Given the description of an element on the screen output the (x, y) to click on. 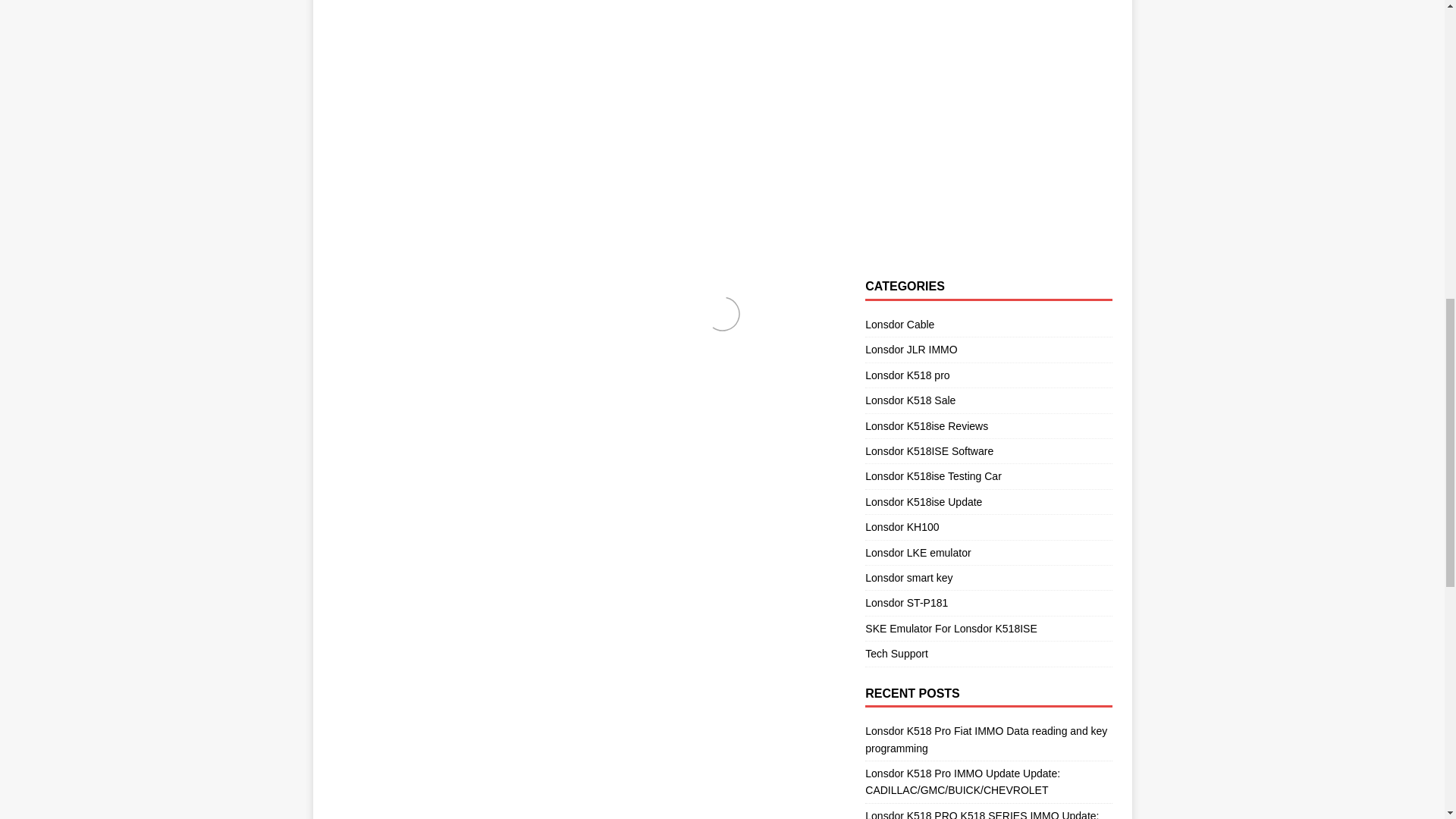
Lonsdor K518 Sale (988, 400)
Lonsdor Cable (988, 326)
Lonsdor K518ise Testing Car (988, 476)
Tech Support (988, 653)
Lonsdor K518 Pro Fiat IMMO Data reading and key programming (985, 738)
Lonsdor ST-P181 (988, 602)
Lonsdor K518ise Reviews (988, 426)
SKE Emulator For Lonsdor K518ISE (988, 628)
Lonsdor K518ISE Software (988, 450)
Lonsdor KH100 (988, 526)
